Given the description of an element on the screen output the (x, y) to click on. 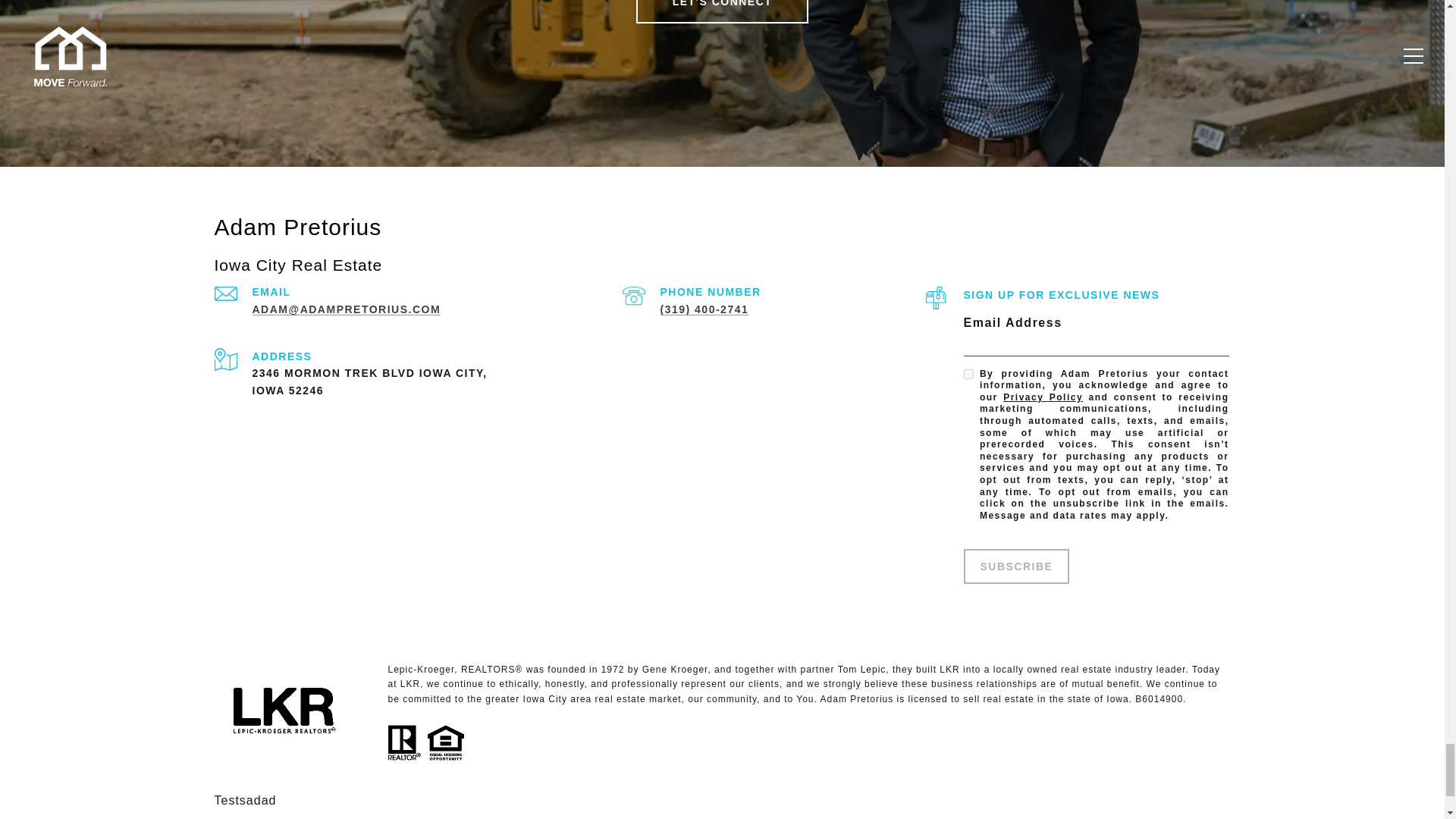
on (967, 374)
